Given the description of an element on the screen output the (x, y) to click on. 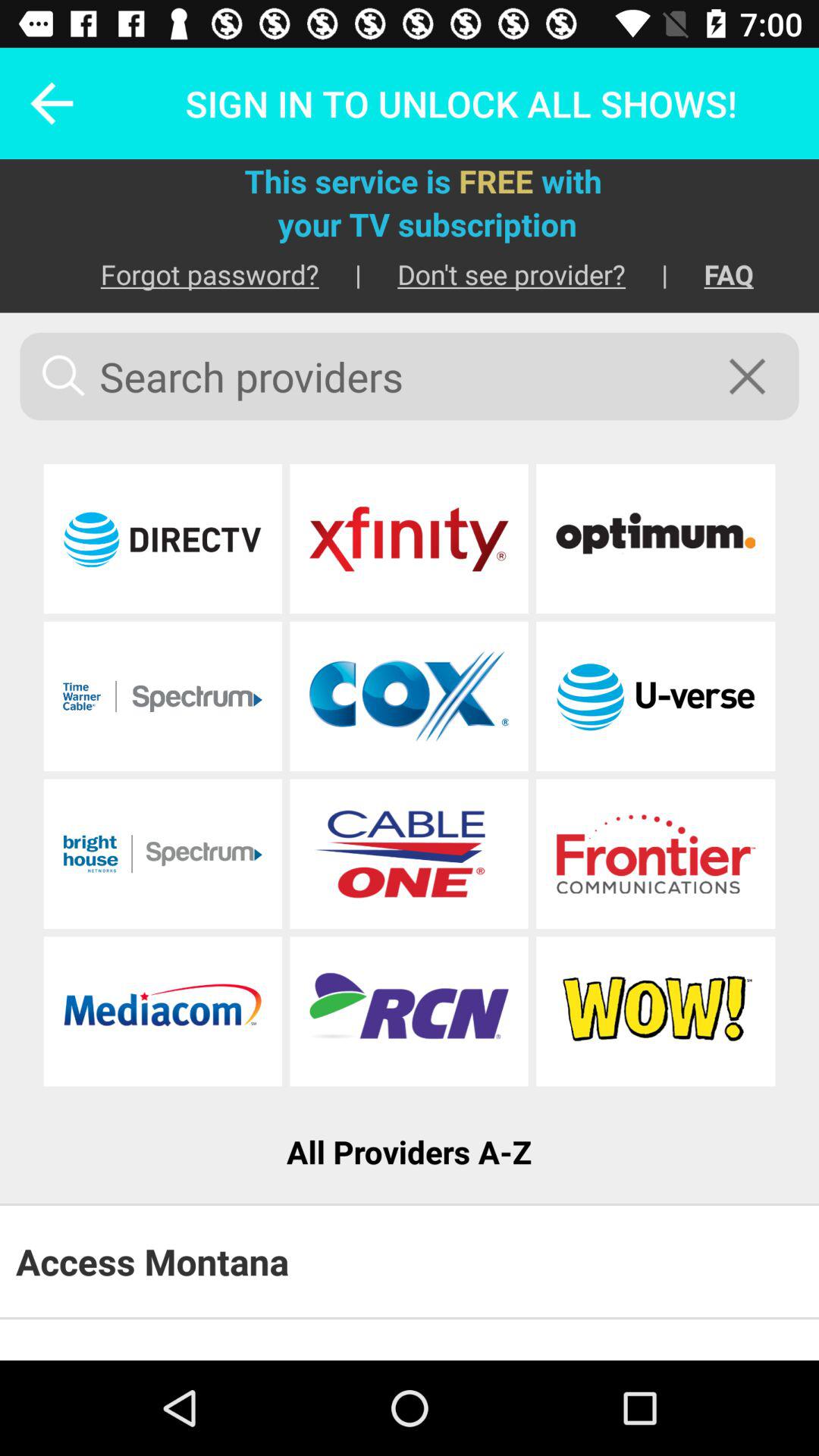
select provider (408, 853)
